Given the description of an element on the screen output the (x, y) to click on. 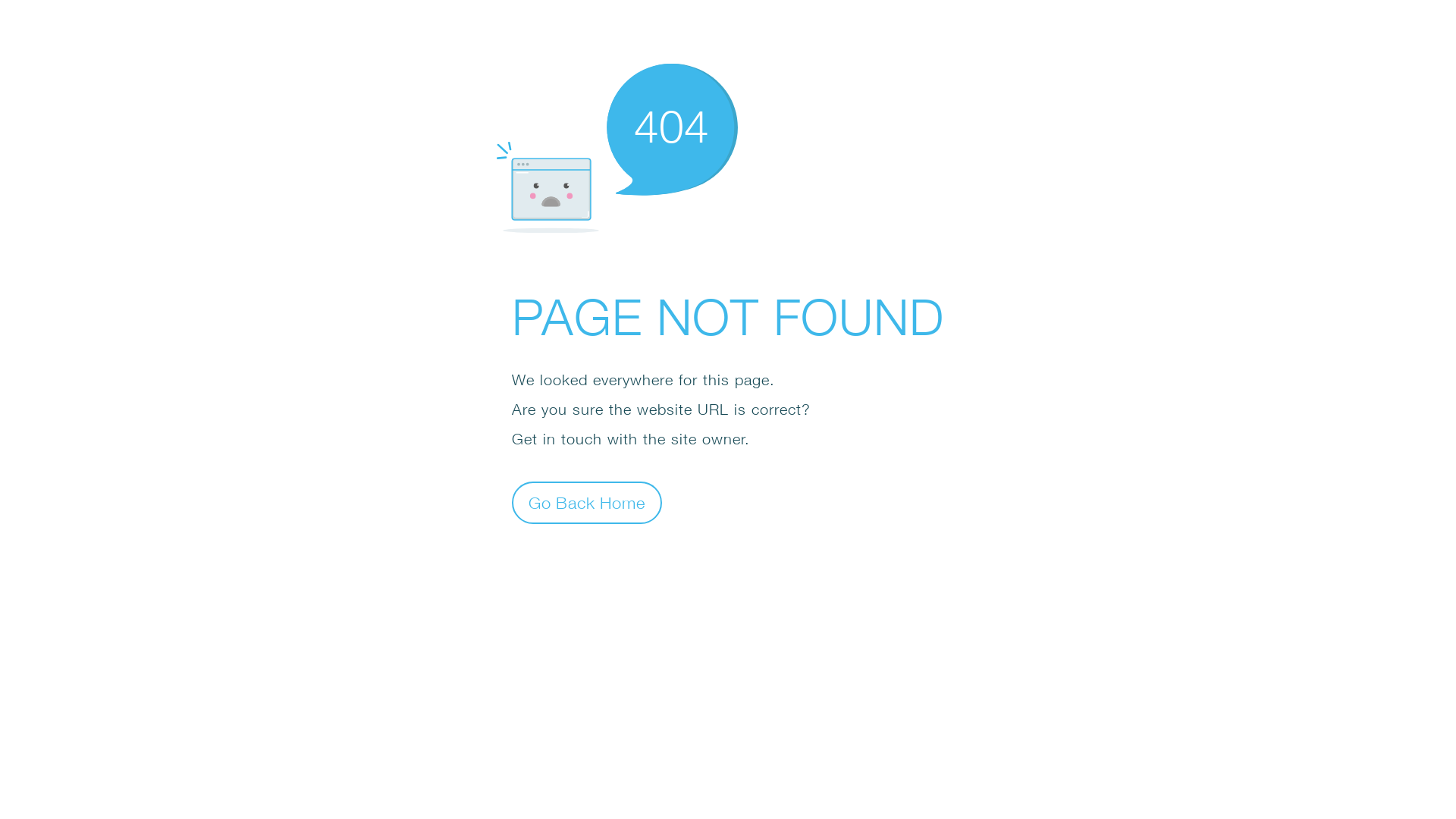
Go Back Home Element type: text (586, 502)
